Given the description of an element on the screen output the (x, y) to click on. 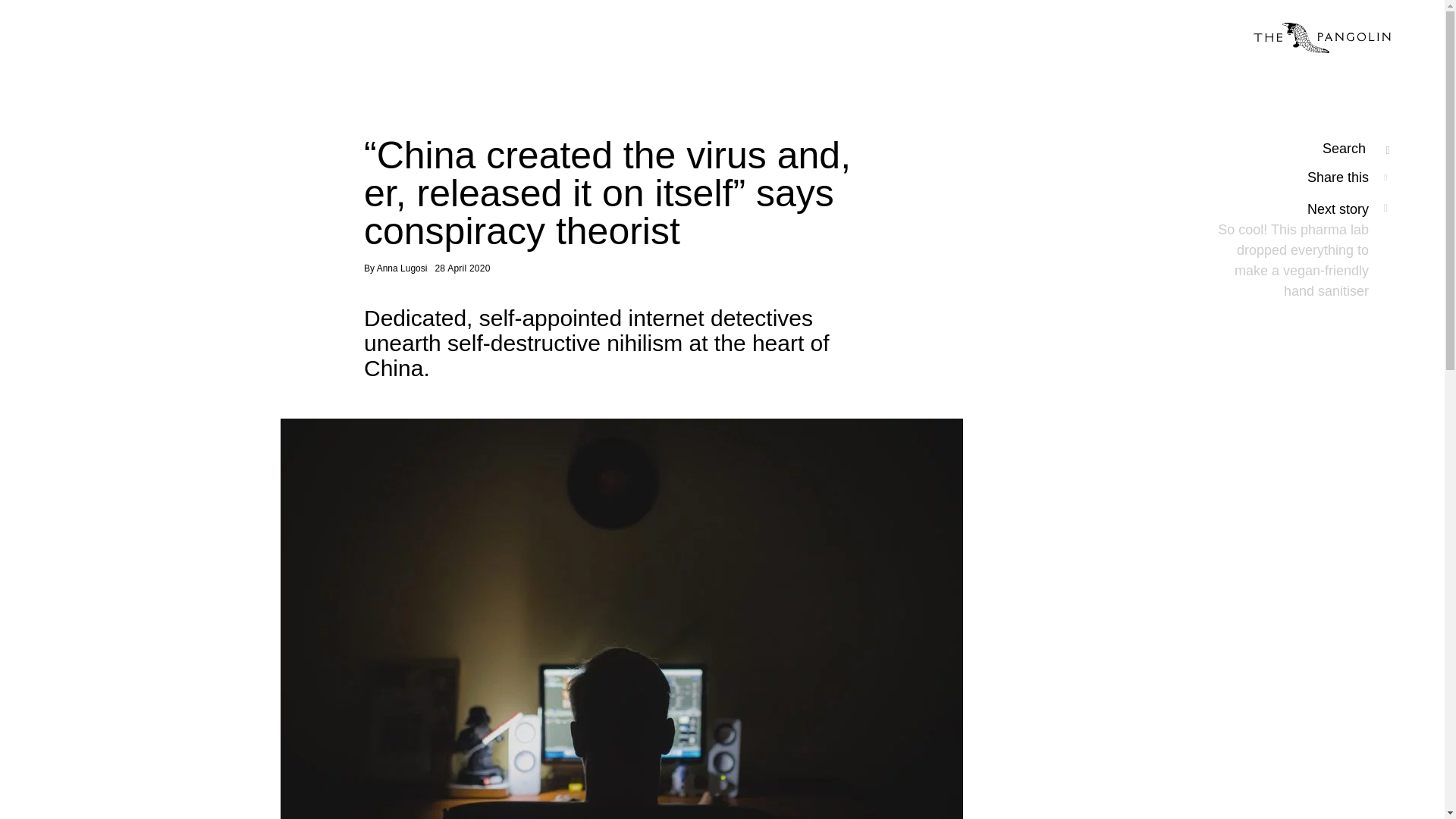
28 April 2020 (461, 267)
Anna Lugosi (402, 267)
